Given the description of an element on the screen output the (x, y) to click on. 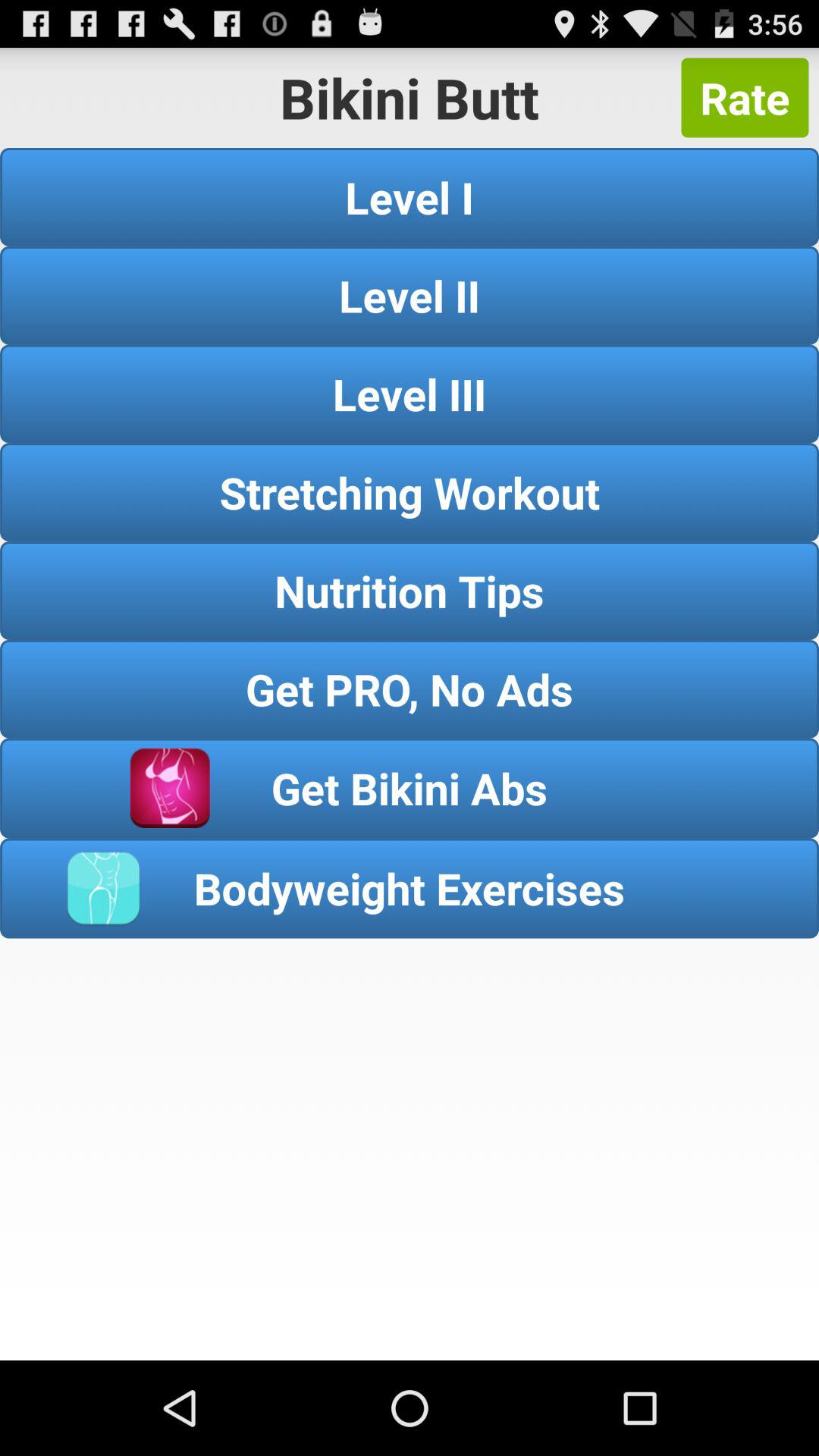
scroll to the rate button (744, 97)
